Given the description of an element on the screen output the (x, y) to click on. 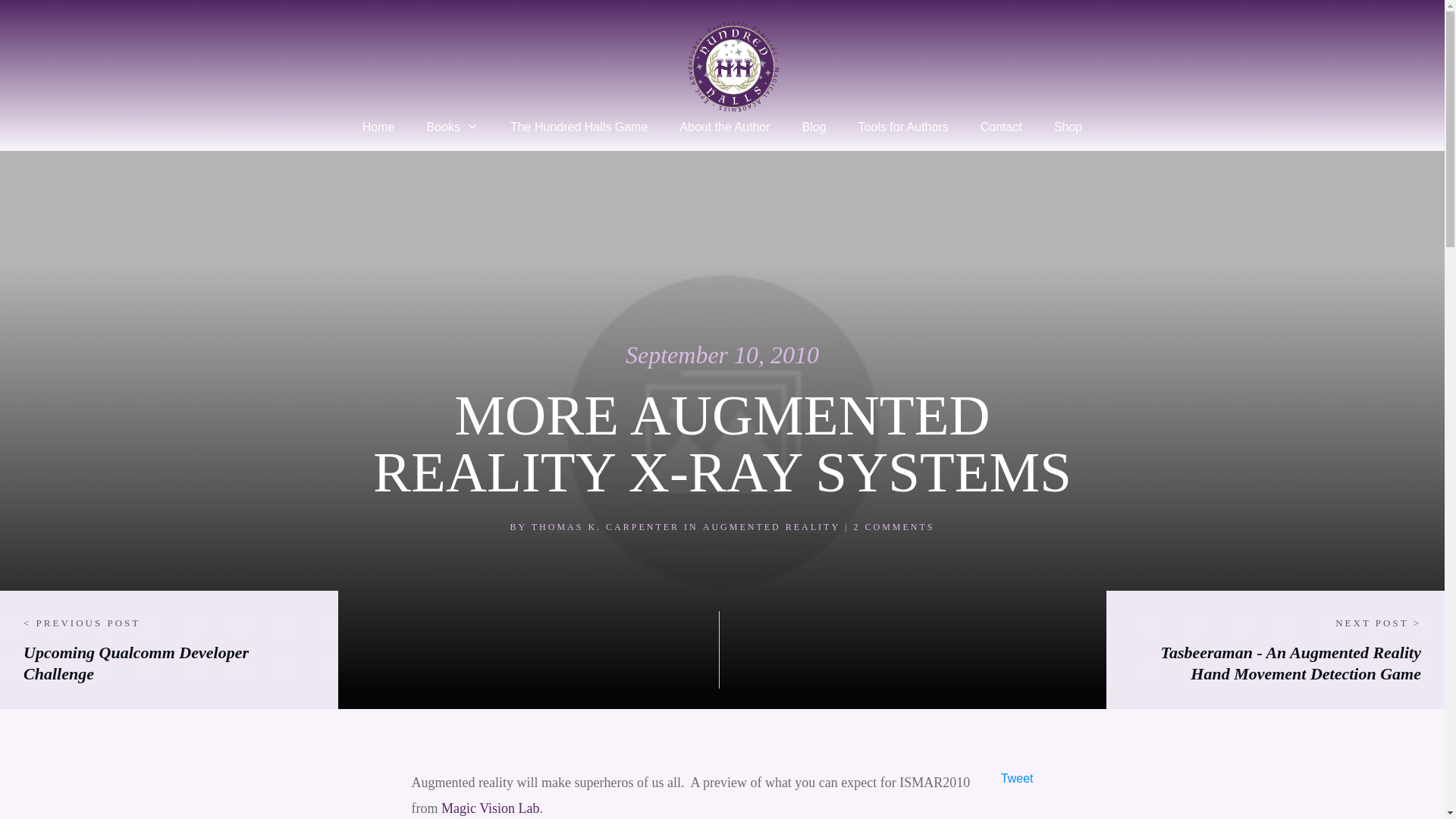
augmented reality (771, 526)
THOMAS K. CARPENTER (605, 526)
The Hundred Halls Game (579, 126)
Tweet (1017, 778)
About the Author (724, 126)
Thomas K. Carpenter (605, 526)
Books (451, 126)
AUGMENTED REALITY (771, 526)
Tools for Authors (904, 126)
Blog (814, 126)
Home (378, 126)
Shop (1067, 126)
Magic Vision Lab (490, 807)
Magic Vision Lab (490, 807)
Contact (1000, 126)
